Given the description of an element on the screen output the (x, y) to click on. 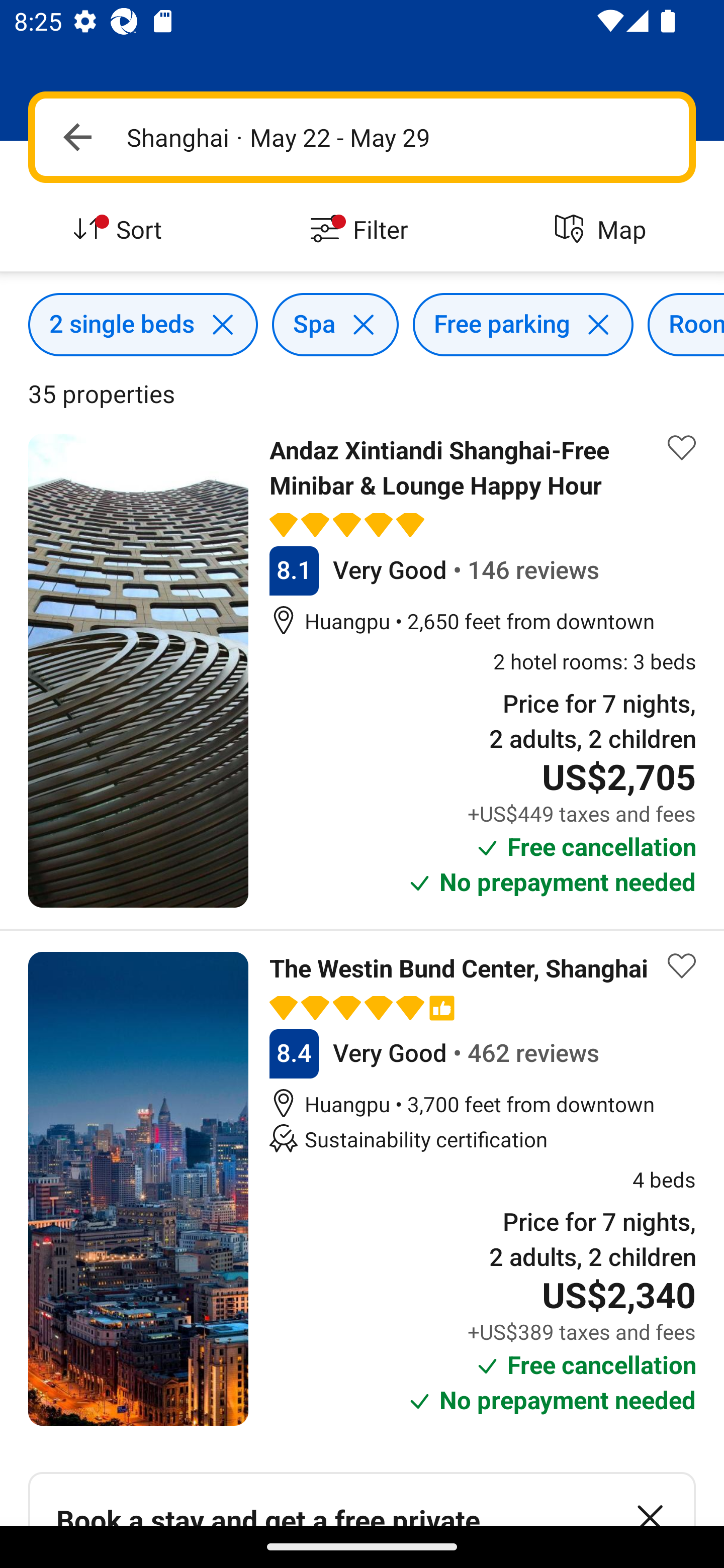
Navigate up Shanghai · May 22 - May 29 (362, 136)
Navigate up (77, 136)
Sort (120, 230)
Filter (361, 230)
Map (603, 230)
Save property to list (681, 447)
Save property to list (681, 965)
Dismiss banner button (650, 1500)
